Given the description of an element on the screen output the (x, y) to click on. 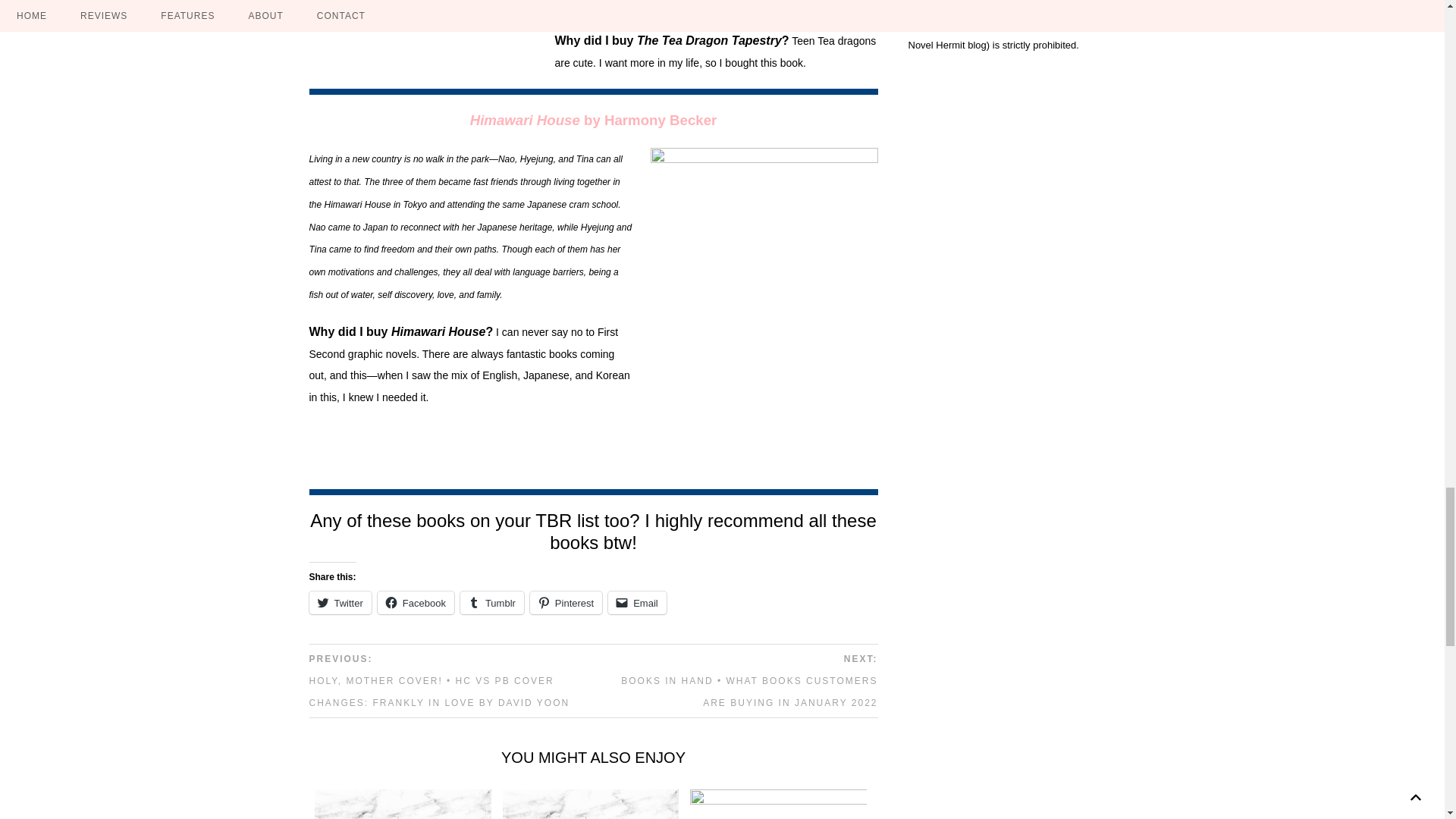
Himawari House by Harmony Becker (593, 121)
Email (637, 602)
Click to email a link to a friend (637, 602)
Pinterest (565, 602)
Click to share on Twitter (339, 602)
Facebook (415, 602)
Click to share on Pinterest (565, 602)
Click to share on Facebook (415, 602)
Twitter (339, 602)
Tumblr (492, 602)
Click to share on Tumblr (492, 602)
